Given the description of an element on the screen output the (x, y) to click on. 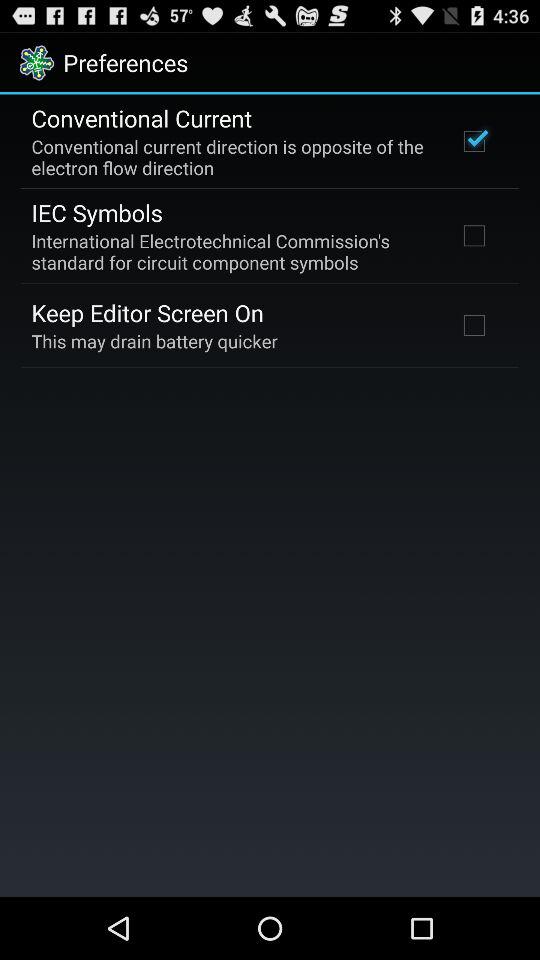
turn off the keep editor screen item (147, 312)
